Given the description of an element on the screen output the (x, y) to click on. 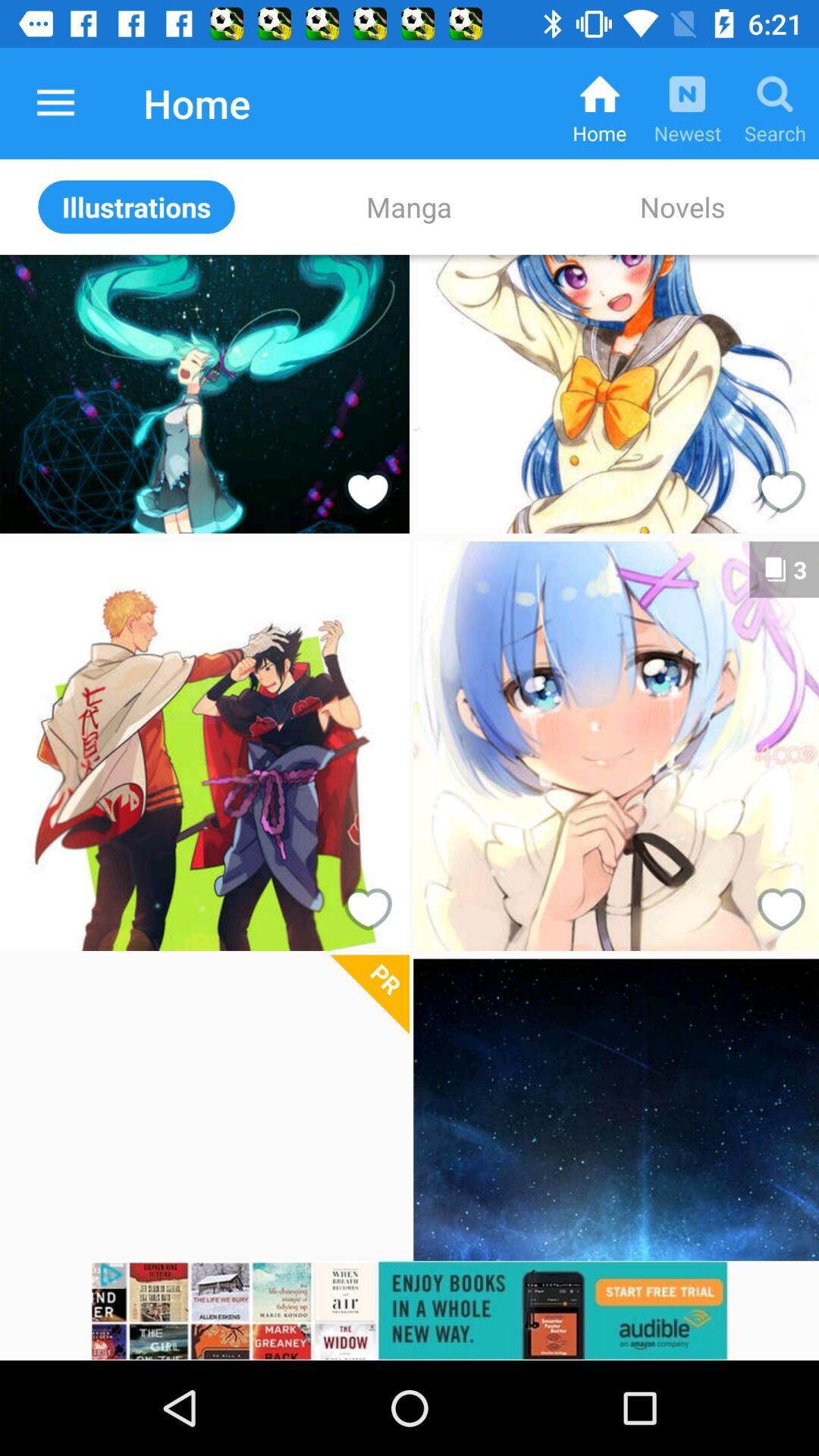
open image (204, 1109)
